Given the description of an element on the screen output the (x, y) to click on. 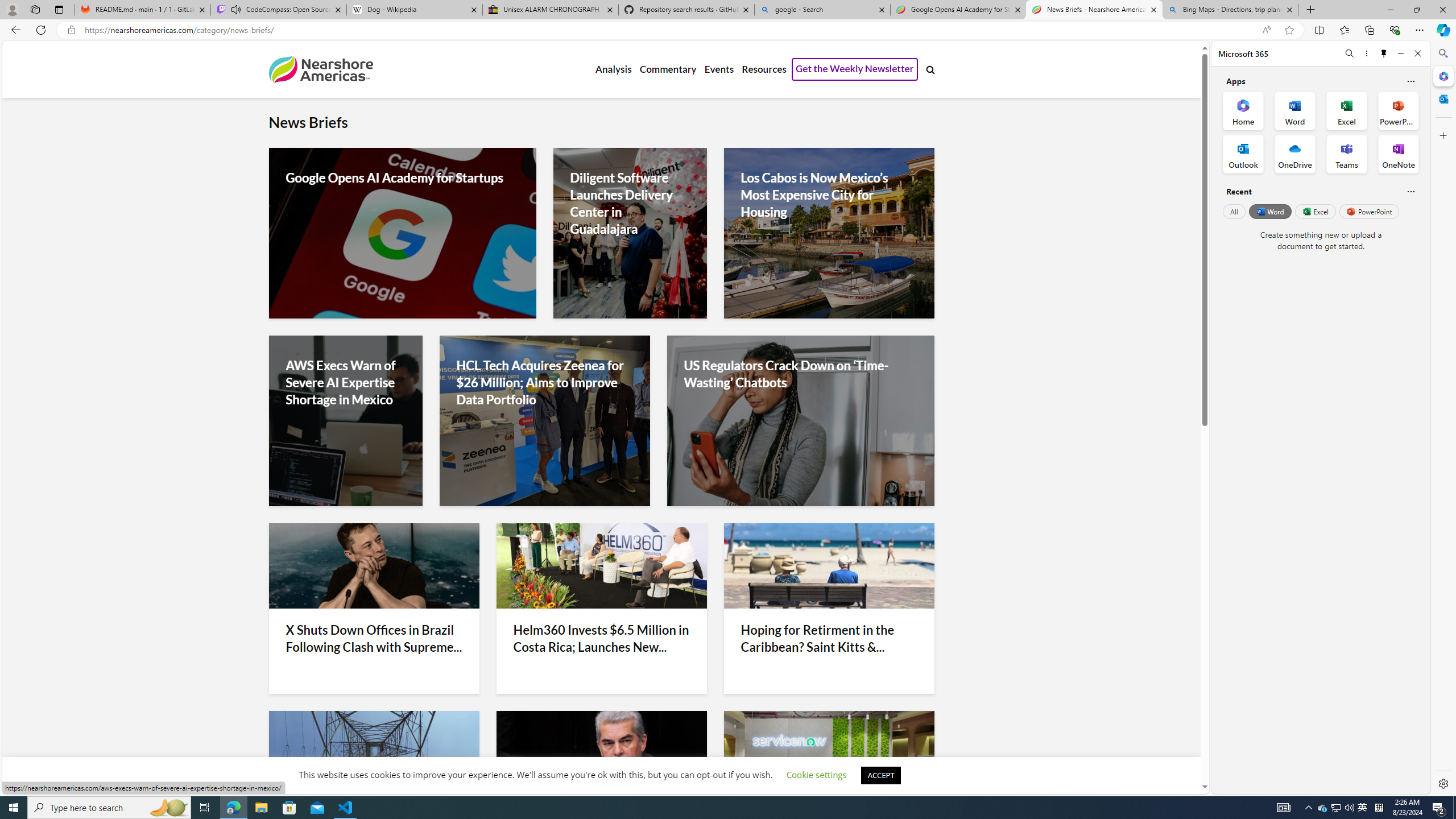
Helm360 (601, 565)
Diligent Software Launches Delivery Center in Guadalajara (629, 203)
Events (718, 69)
Mute tab (235, 8)
OneNote Office App (1398, 154)
